Given the description of an element on the screen output the (x, y) to click on. 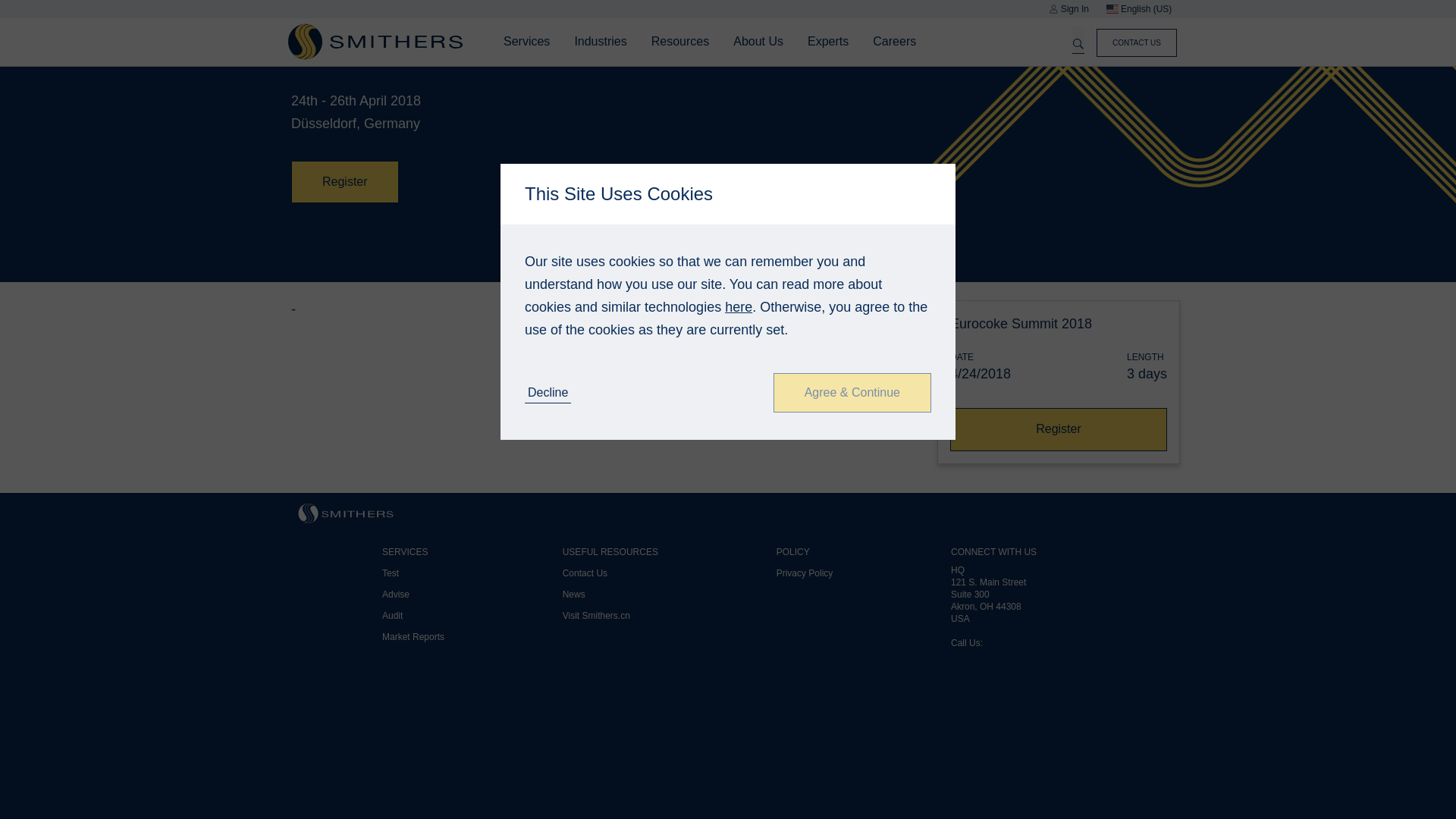
Reset Password (855, 290)
Login (885, 290)
